Given the description of an element on the screen output the (x, y) to click on. 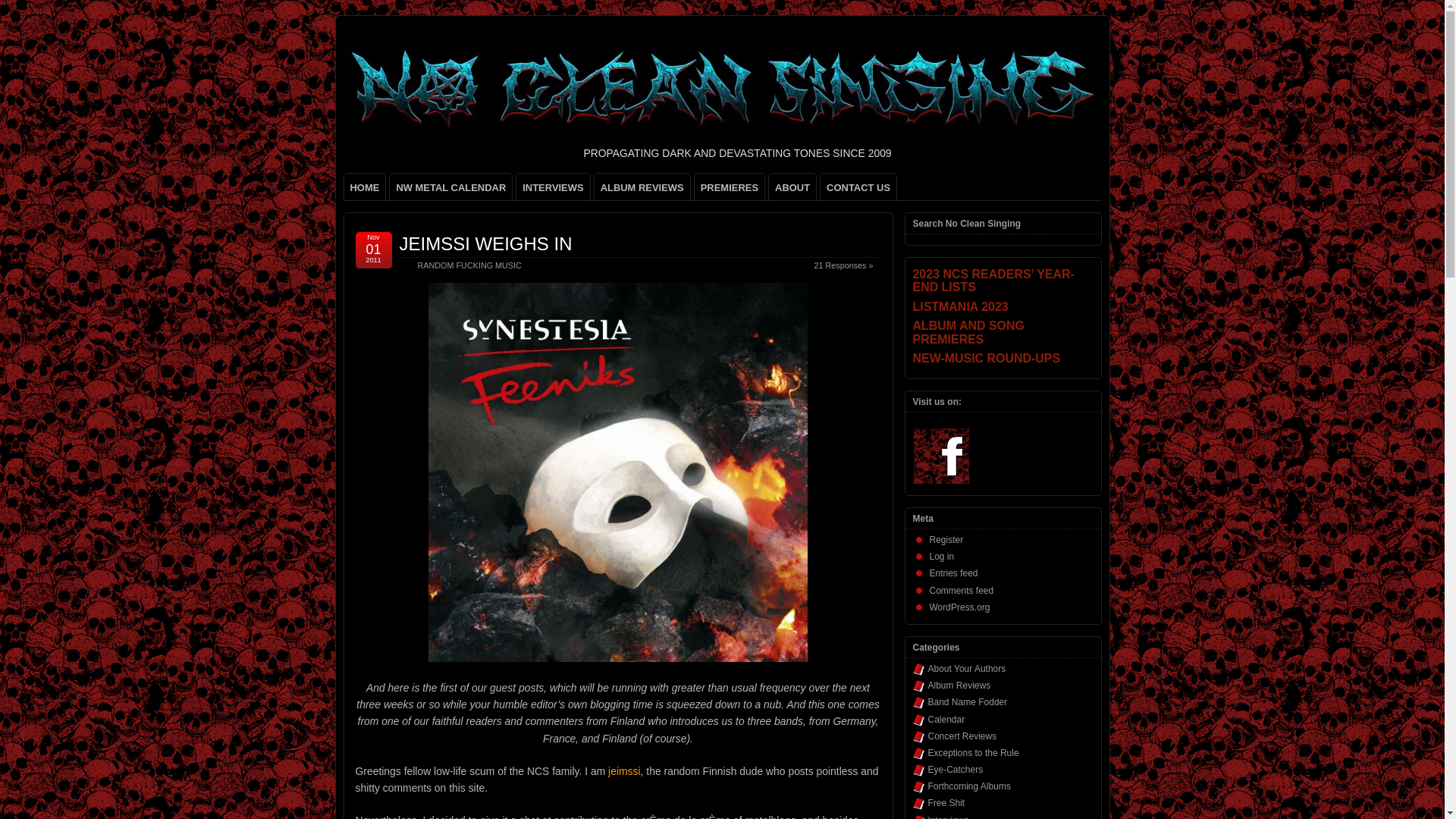
NW METAL CALENDAR (451, 186)
PREMIERES (729, 186)
CONTACT US (858, 186)
LISTMANIA 2023 (1002, 306)
About Your Authors (967, 668)
ABOUT (791, 186)
Album Reviews (959, 685)
Exceptions to the Rule (973, 752)
ALBUM REVIEWS (642, 186)
INTERVIEWS (552, 186)
ABOUT (791, 186)
ALBUM AND SONG PREMIERES (1002, 332)
CONTACT US (858, 186)
INTERVIEWS (552, 186)
RANDOM FUCKING MUSIC (468, 265)
